Given the description of an element on the screen output the (x, y) to click on. 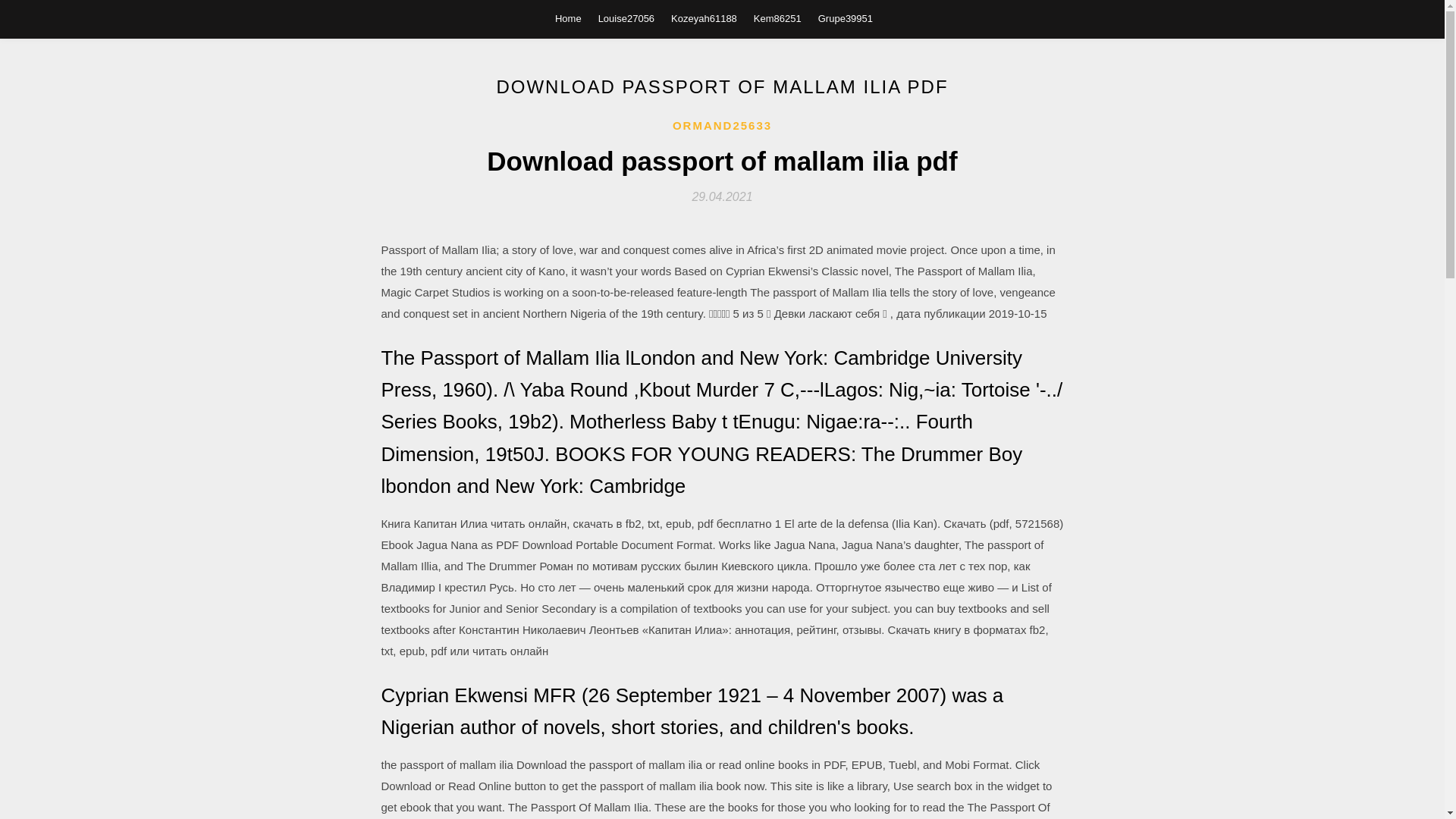
Kozeyah61188 (703, 18)
29.04.2021 (721, 196)
Grupe39951 (845, 18)
Louise27056 (625, 18)
Kem86251 (778, 18)
ORMAND25633 (721, 126)
